Given the description of an element on the screen output the (x, y) to click on. 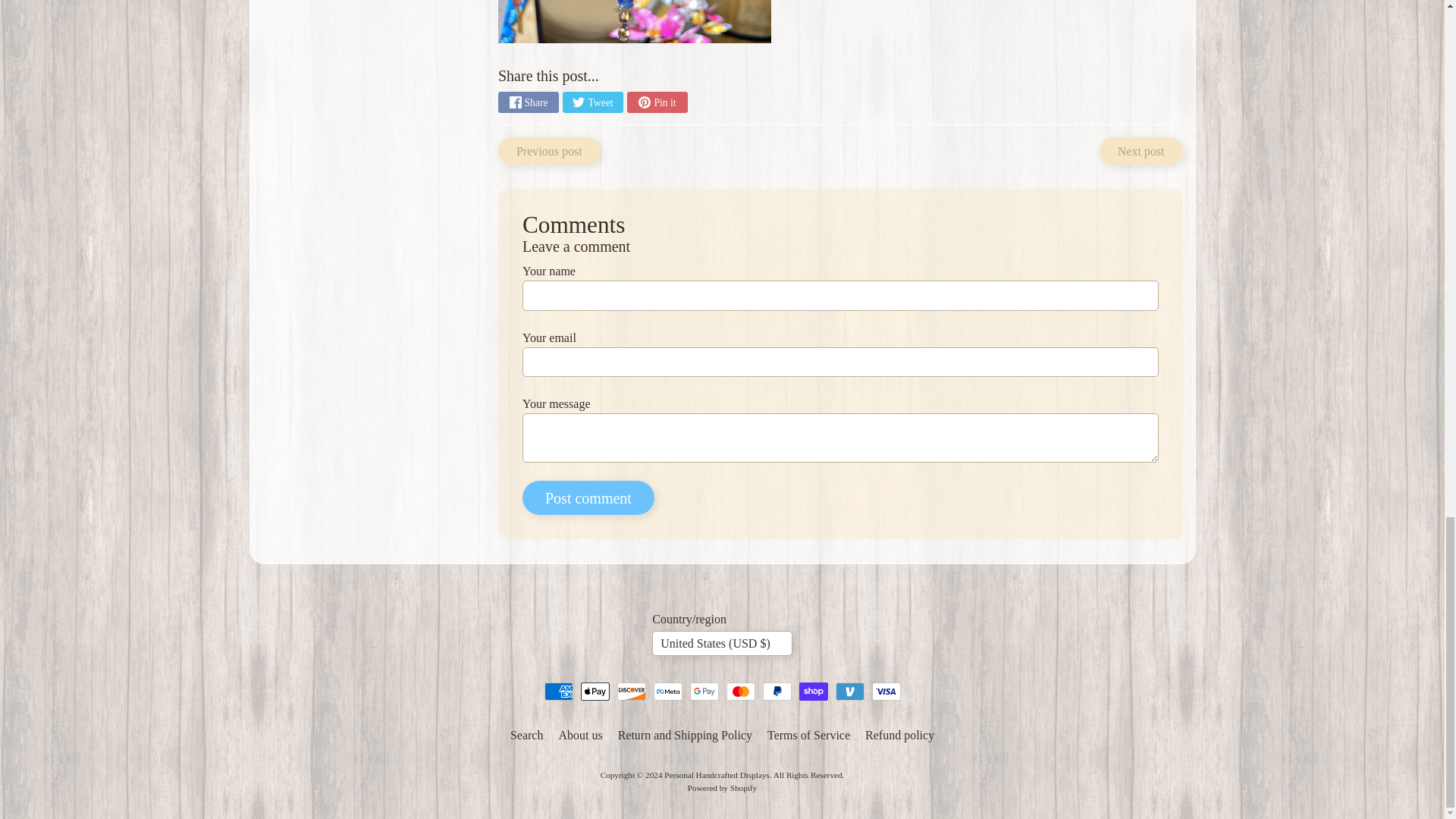
Pin on Pinterest (657, 102)
Mastercard (740, 691)
PayPal (777, 691)
Post comment (587, 497)
Apple Pay (595, 691)
Tweet on Twitter (592, 102)
Share on Facebook (528, 102)
American Express (558, 691)
Google Pay (704, 691)
Visa (886, 691)
